Given the description of an element on the screen output the (x, y) to click on. 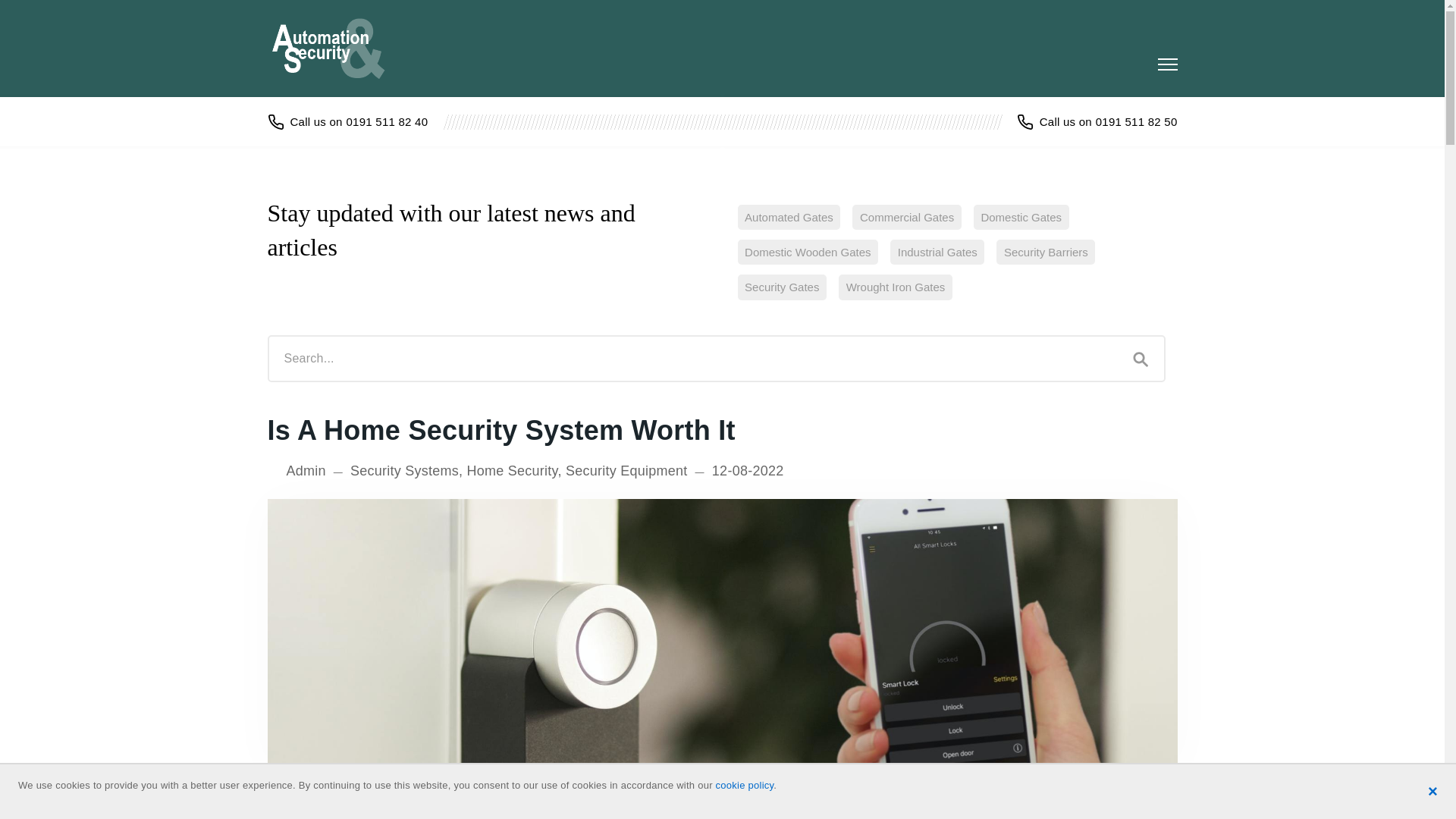
Search (1140, 358)
Security Gates (781, 286)
Home (336, 48)
Domestic Wooden Gates (806, 251)
Commercial Gates (905, 217)
Search (1140, 358)
Automated Gates (788, 217)
Security Barriers (1044, 251)
Industrial Gates (936, 251)
Domestic Gates (1021, 217)
Wrought Iron Gates (895, 286)
0191 511 82 40 (347, 121)
Navigation (1166, 64)
0191 511 82 50 (1096, 121)
